Given the description of an element on the screen output the (x, y) to click on. 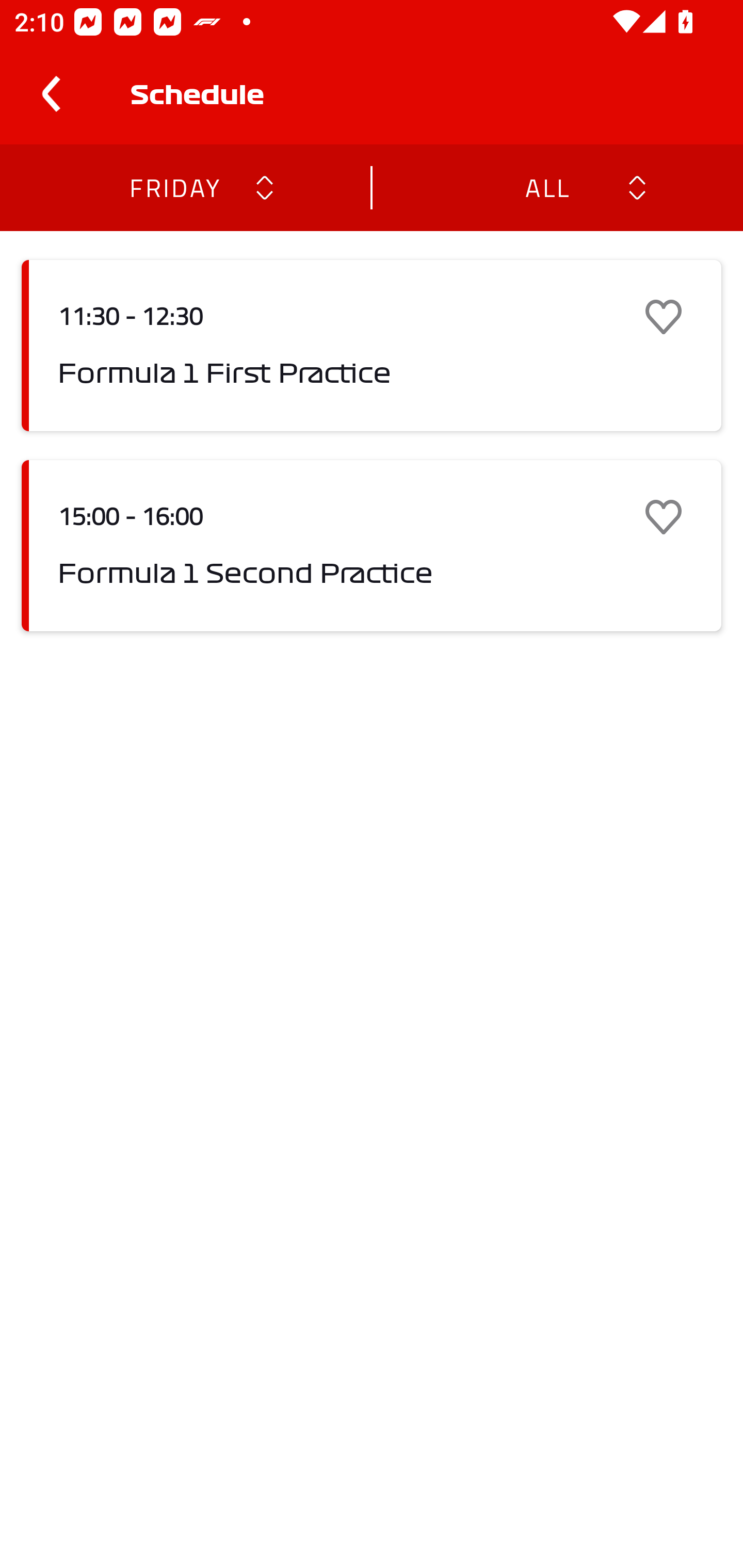
Navigate up (50, 93)
FRIDAY (174, 187)
ALL (546, 187)
11:30 - 12:30 Formula 1 First Practice (371, 345)
15:00 - 16:00 Formula 1 Second Practice (371, 545)
